Given the description of an element on the screen output the (x, y) to click on. 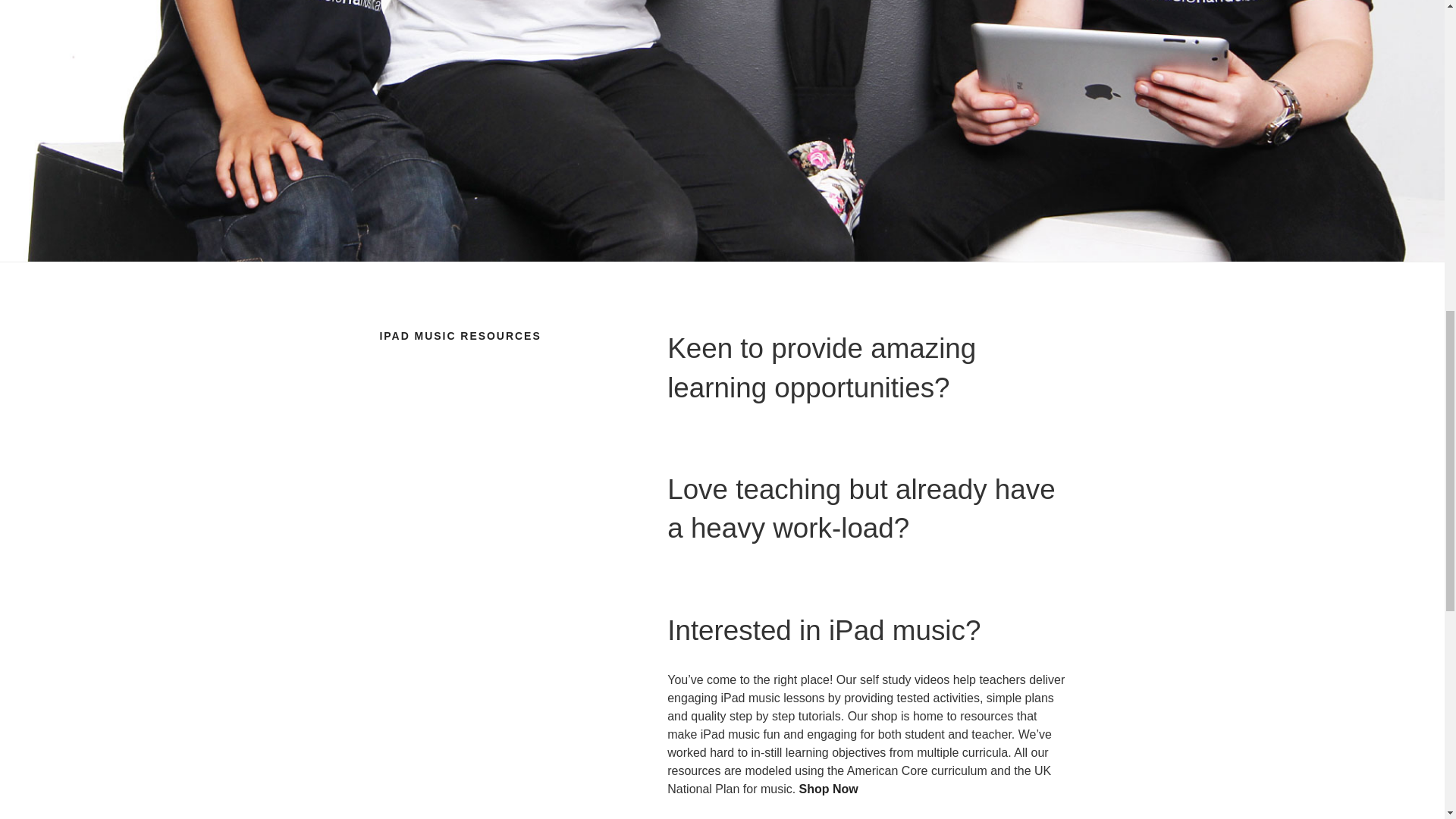
Shop Now (829, 788)
